Given the description of an element on the screen output the (x, y) to click on. 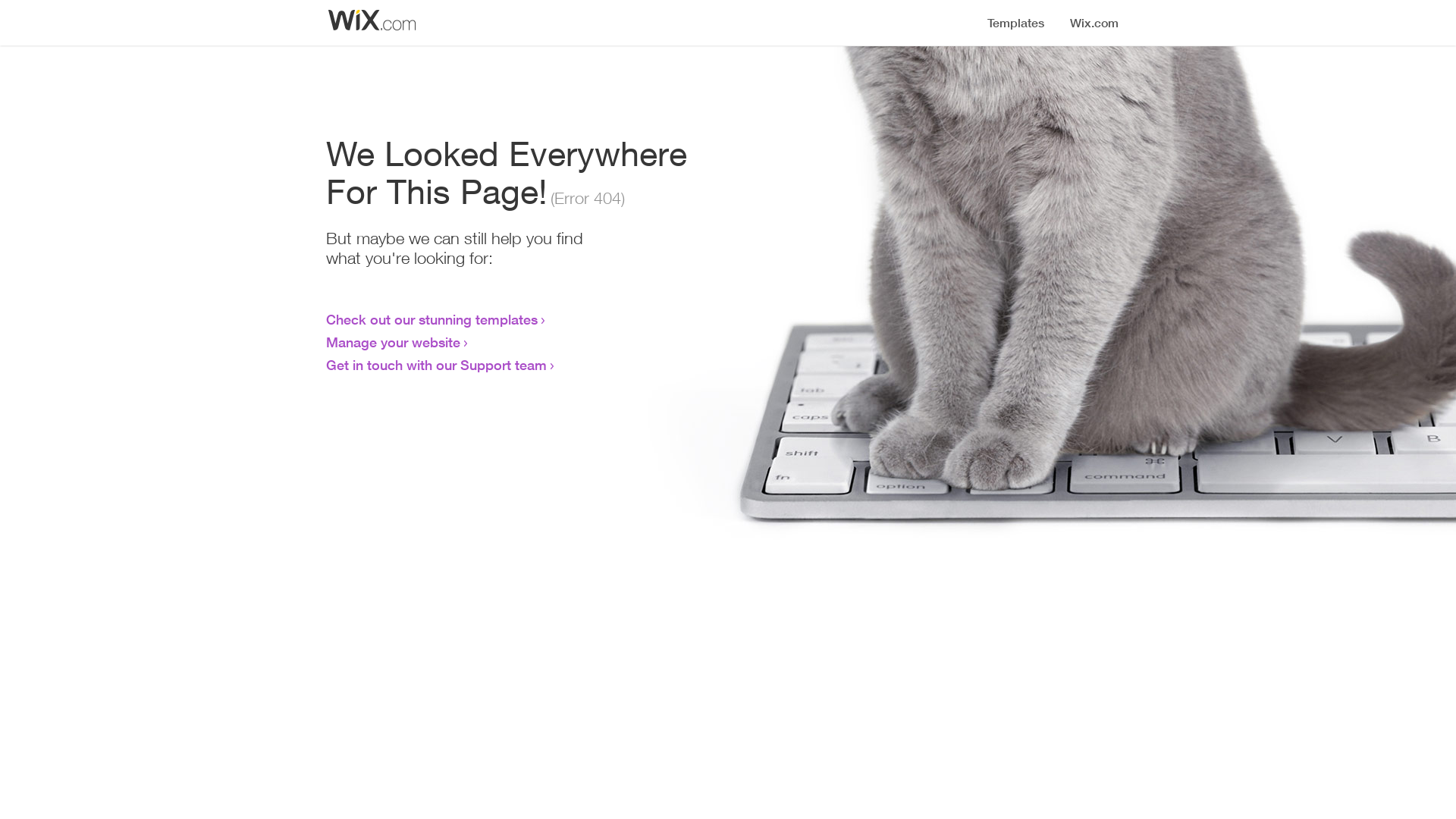
Get in touch with our Support team Element type: text (436, 364)
Check out our stunning templates Element type: text (431, 318)
Manage your website Element type: text (393, 341)
